Given the description of an element on the screen output the (x, y) to click on. 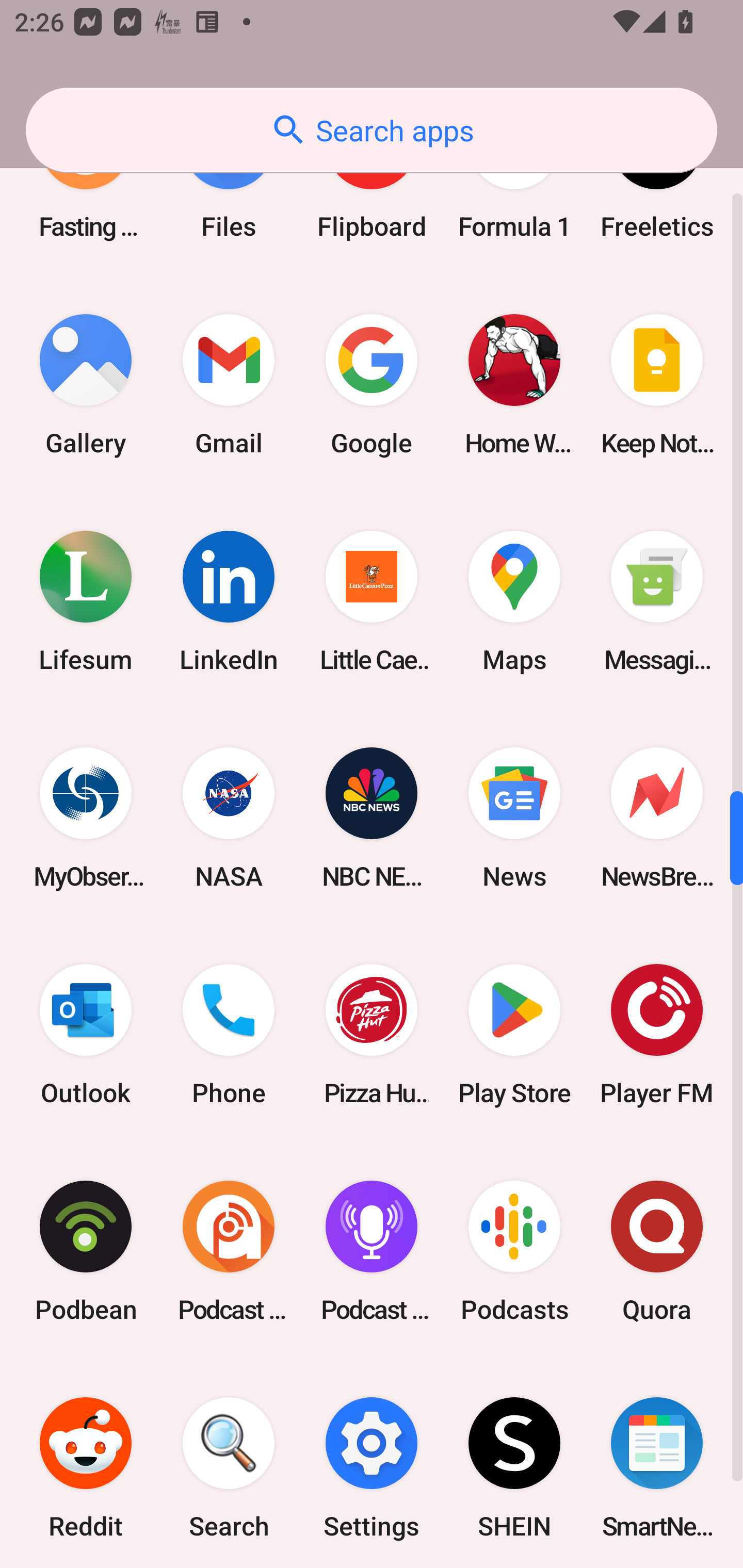
  Search apps (371, 130)
Gallery (85, 383)
Gmail (228, 383)
Google (371, 383)
Home Workout (514, 383)
Keep Notes (656, 383)
Lifesum (85, 601)
LinkedIn (228, 601)
Little Caesars Pizza (371, 601)
Maps (514, 601)
Messaging (656, 601)
MyObservatory (85, 818)
NASA (228, 818)
NBC NEWS (371, 818)
News (514, 818)
NewsBreak (656, 818)
Outlook (85, 1034)
Phone (228, 1034)
Pizza Hut HK & Macau (371, 1034)
Play Store (514, 1034)
Player FM (656, 1034)
Podbean (85, 1251)
Podcast Addict (228, 1251)
Podcast Player (371, 1251)
Podcasts (514, 1251)
Quora (656, 1251)
Reddit (85, 1463)
Search (228, 1463)
Settings (371, 1463)
SHEIN (514, 1463)
SmartNews (656, 1463)
